Given the description of an element on the screen output the (x, y) to click on. 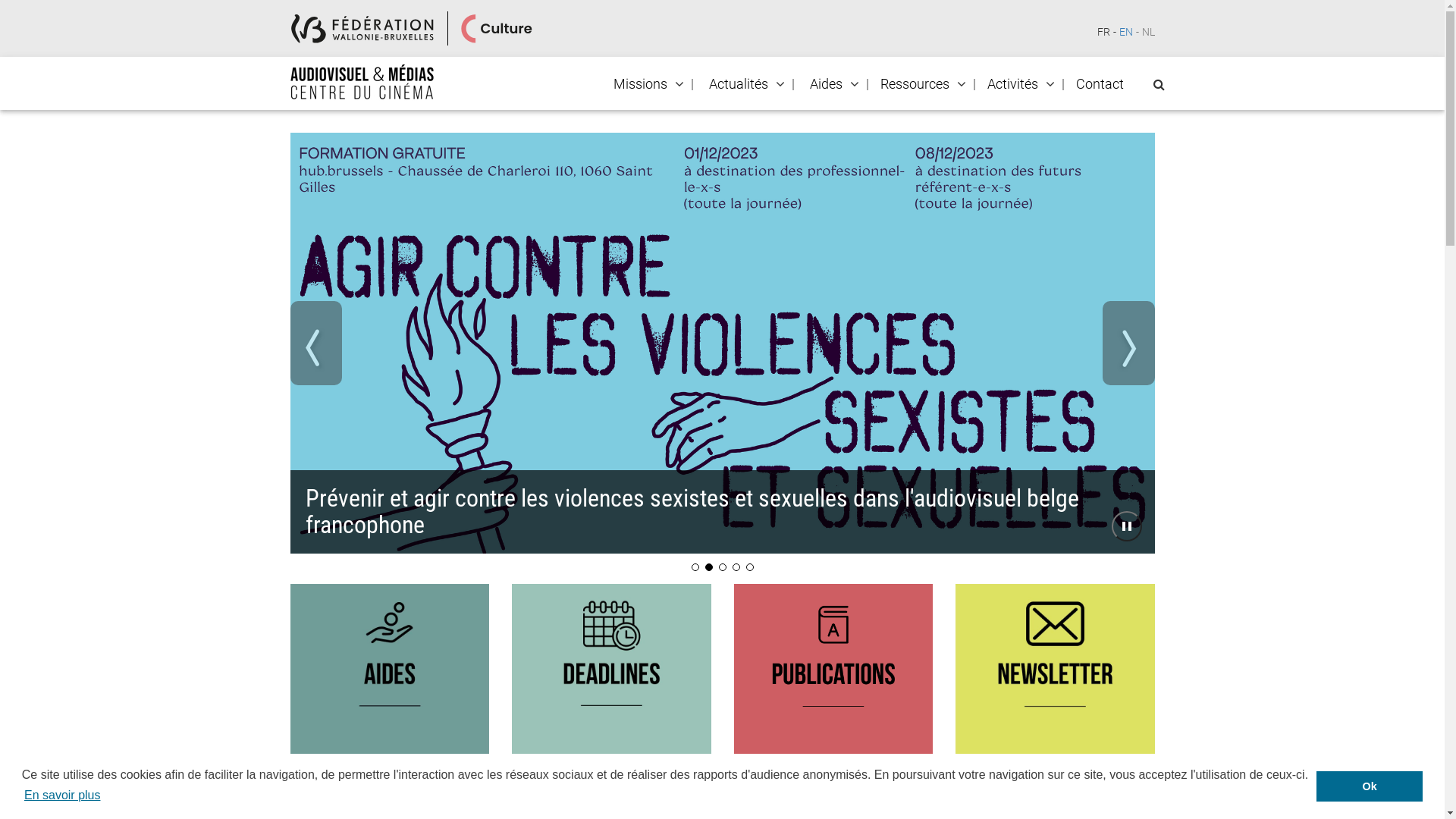
Recherche Element type: text (5, 11)
En savoir plus Element type: text (62, 795)
Rechercher sur le site Element type: text (1158, 84)
EN Element type: text (1125, 31)
Missions Element type: text (640, 84)
Aides Element type: text (825, 84)
Contact Element type: text (1099, 84)
Ressources Element type: text (914, 84)
Ok Element type: text (1369, 786)
Suivant Element type: text (1128, 343)
